Given the description of an element on the screen output the (x, y) to click on. 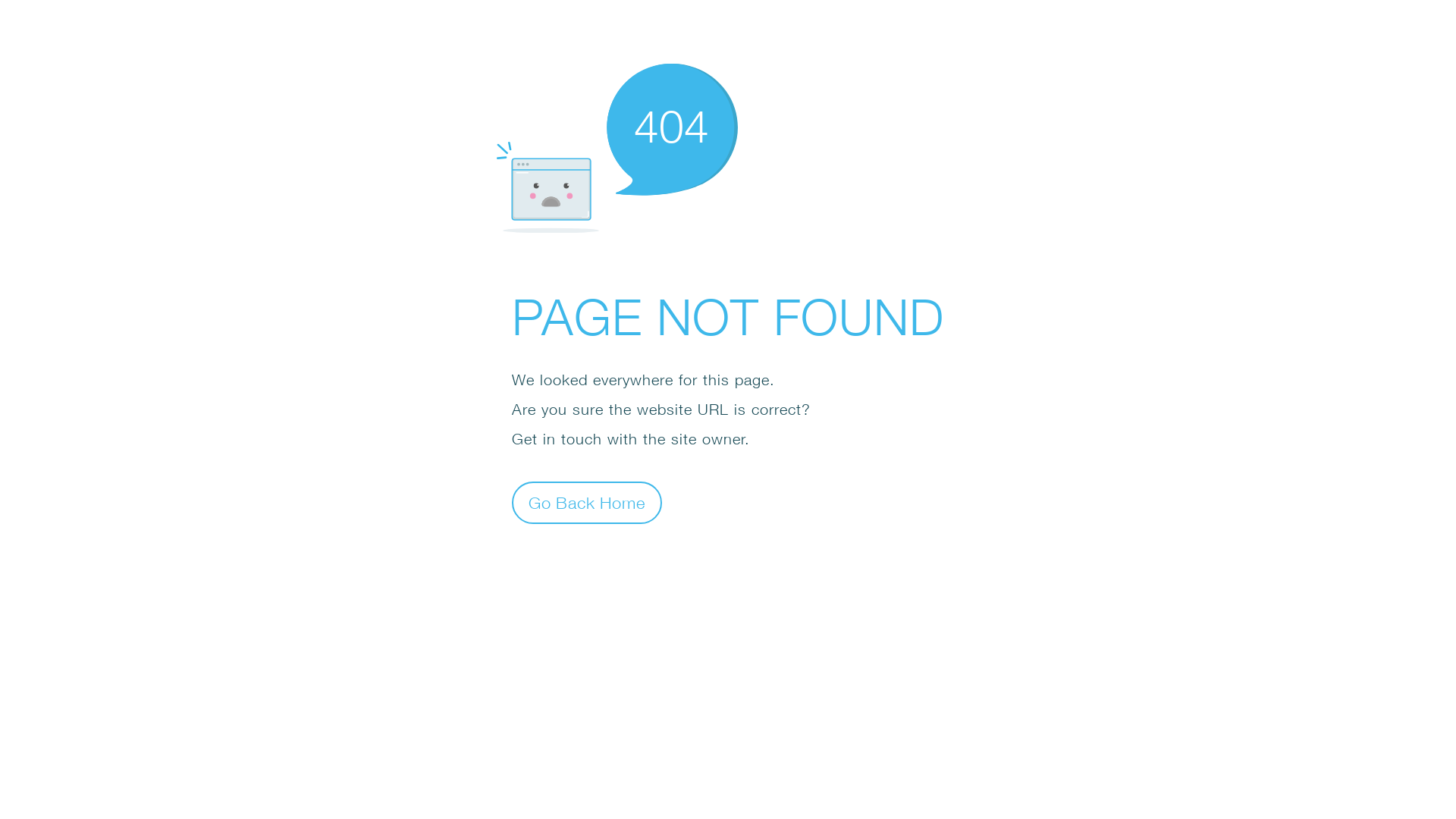
Go Back Home Element type: text (586, 502)
